Given the description of an element on the screen output the (x, y) to click on. 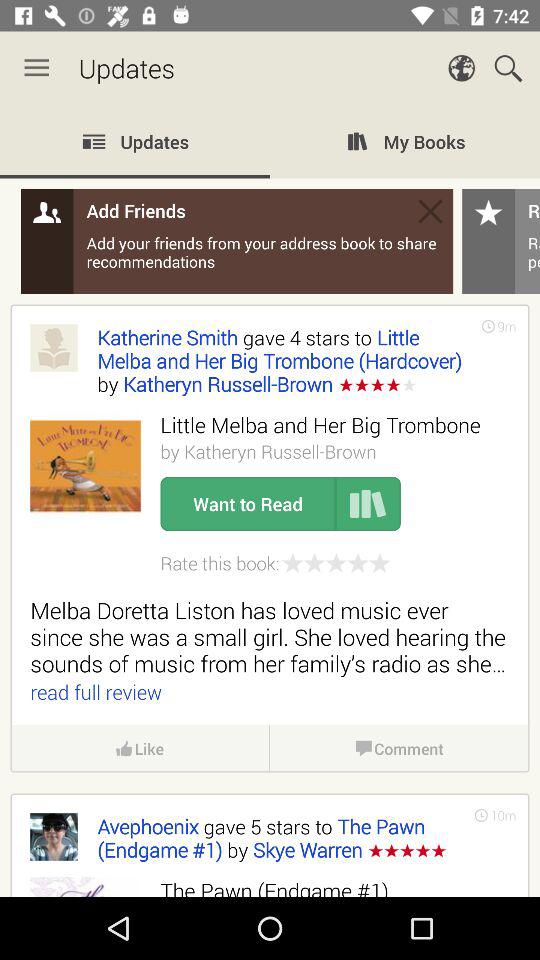
close add friends box (430, 211)
